Given the description of an element on the screen output the (x, y) to click on. 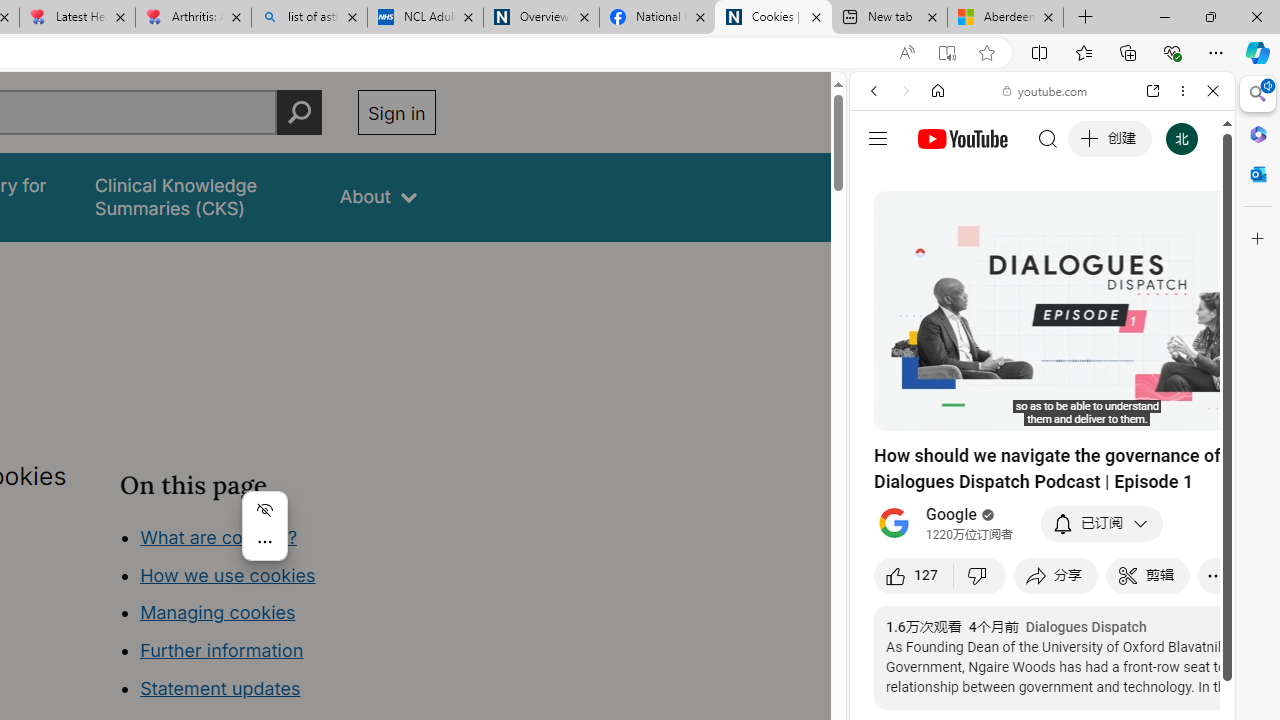
Mini menu on text selection (264, 538)
How we use cookies (227, 574)
